Given the description of an element on the screen output the (x, y) to click on. 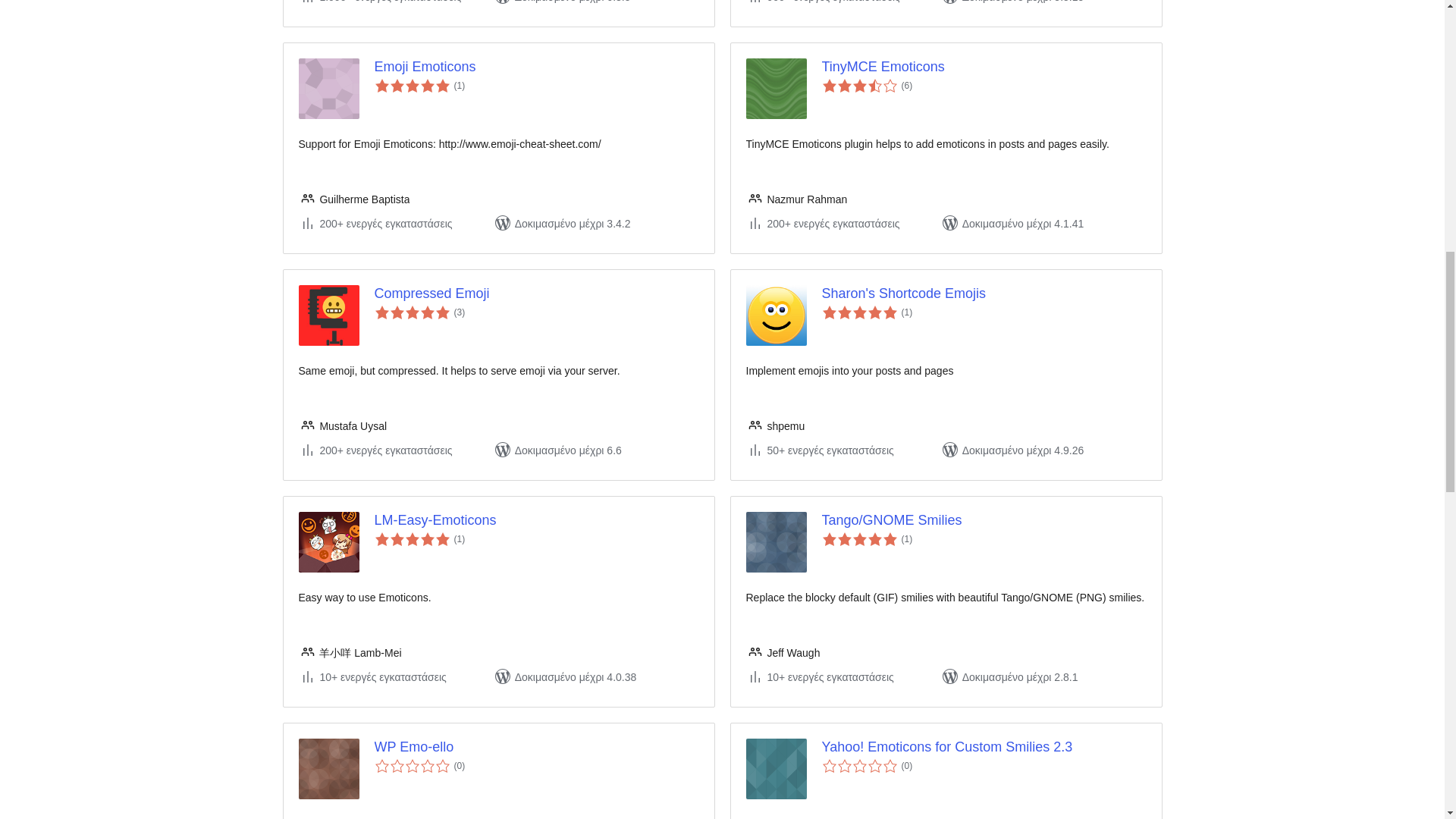
Emoji Emoticons (536, 67)
TinyMCE Emoticons (984, 67)
Compressed Emoji (536, 293)
Sharon's Shortcode Emojis (984, 293)
